Given the description of an element on the screen output the (x, y) to click on. 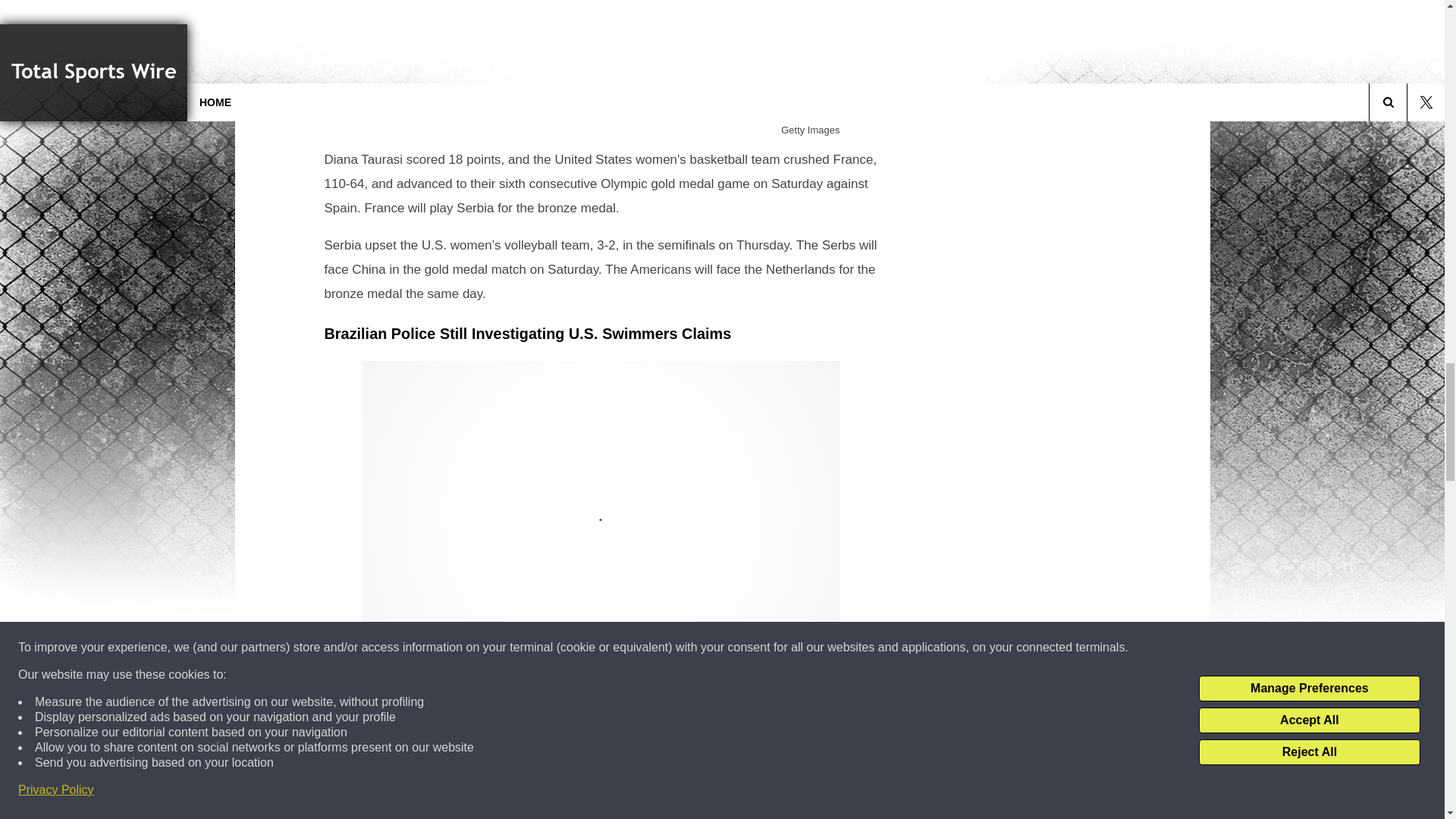
continuing their investigation (526, 720)
